Given the description of an element on the screen output the (x, y) to click on. 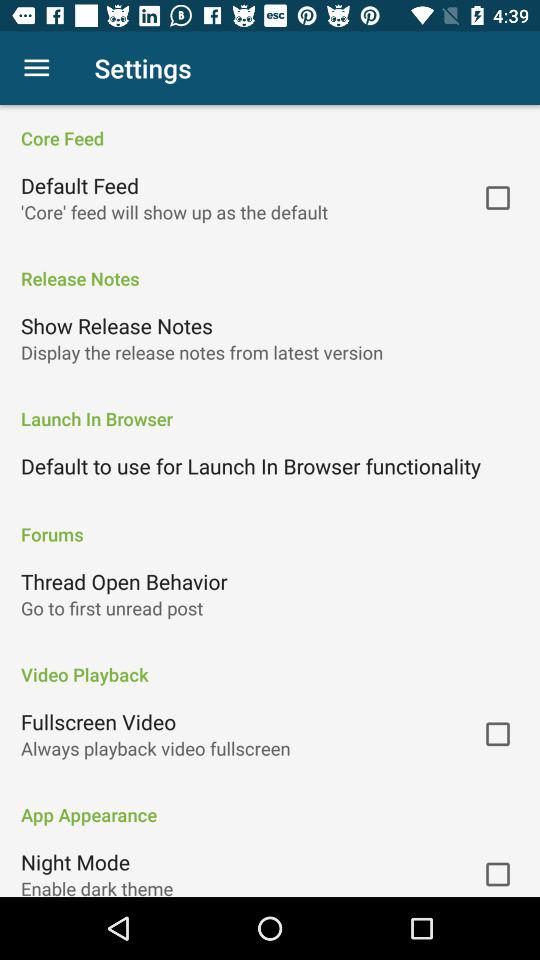
scroll until the app appearance (270, 804)
